Given the description of an element on the screen output the (x, y) to click on. 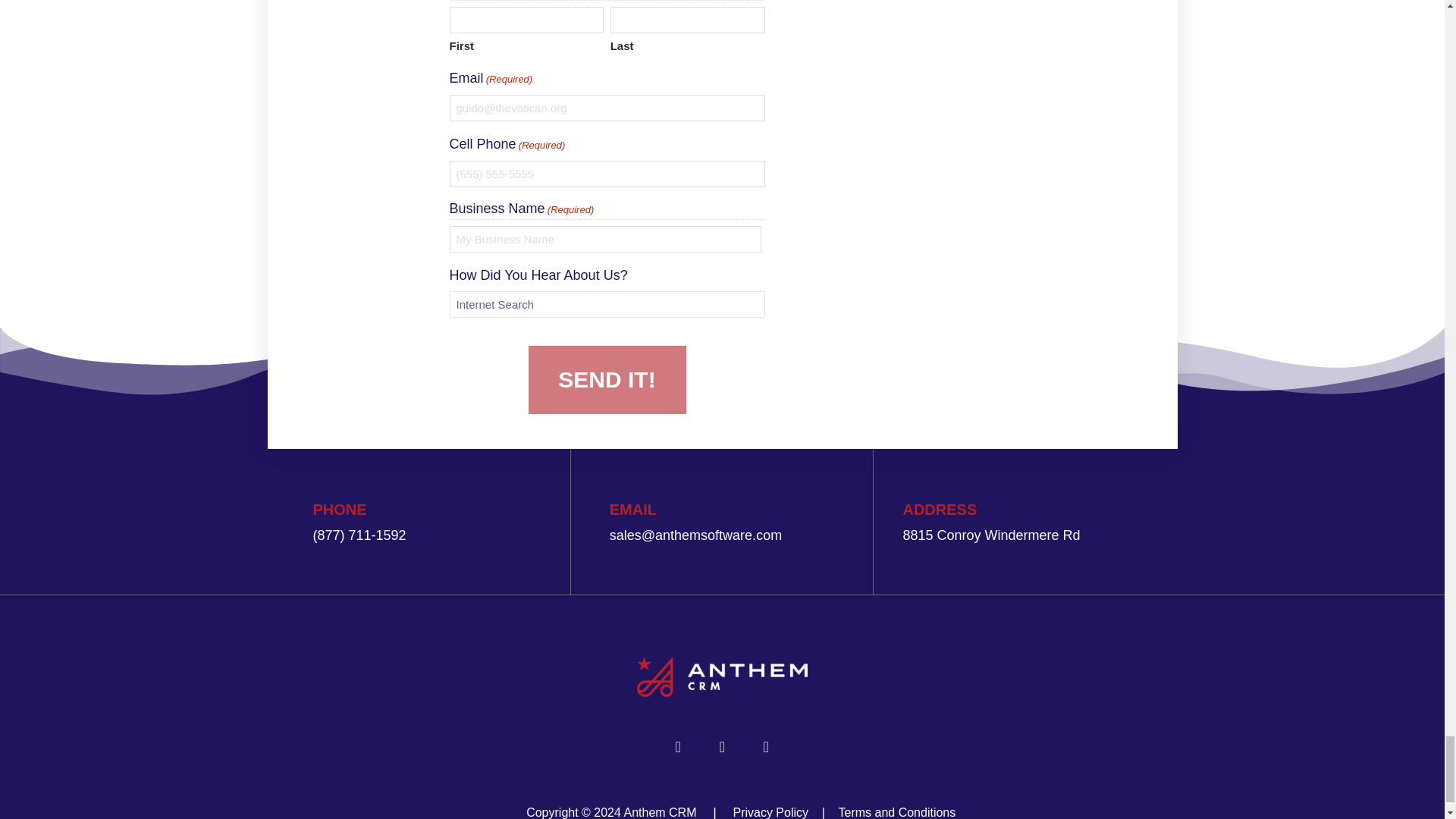
Email Us (695, 534)
Send It! (606, 379)
Get Directions (991, 534)
Call Now! (359, 534)
PHONE (339, 509)
ADDRESS (939, 509)
8815 Conroy Windermere Rd (991, 534)
Send It! (606, 379)
EMAIL (633, 509)
